Given the description of an element on the screen output the (x, y) to click on. 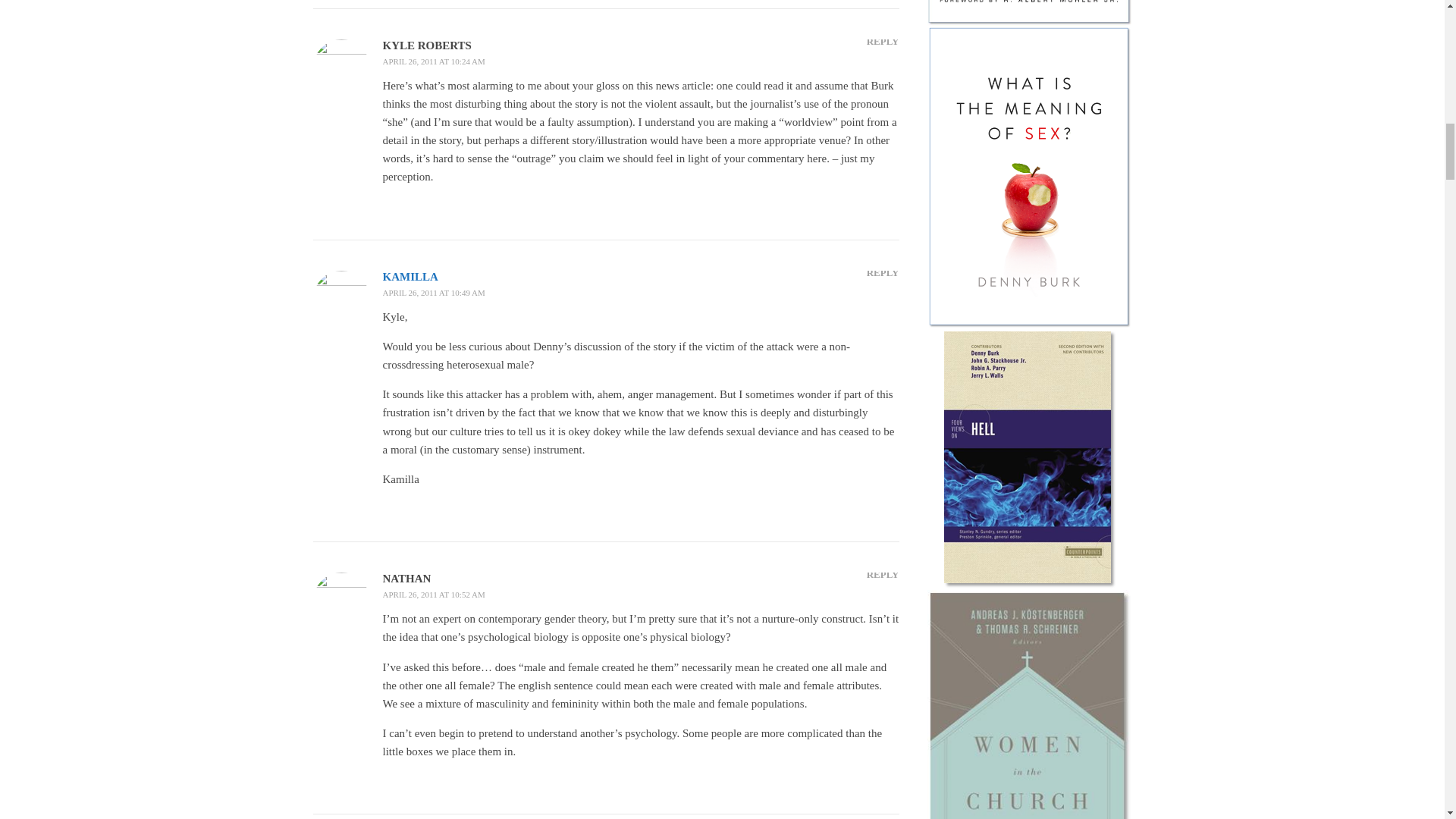
REPLY (882, 40)
KAMILLA (409, 276)
APRIL 26, 2011 AT 10:24 AM (432, 61)
